Given the description of an element on the screen output the (x, y) to click on. 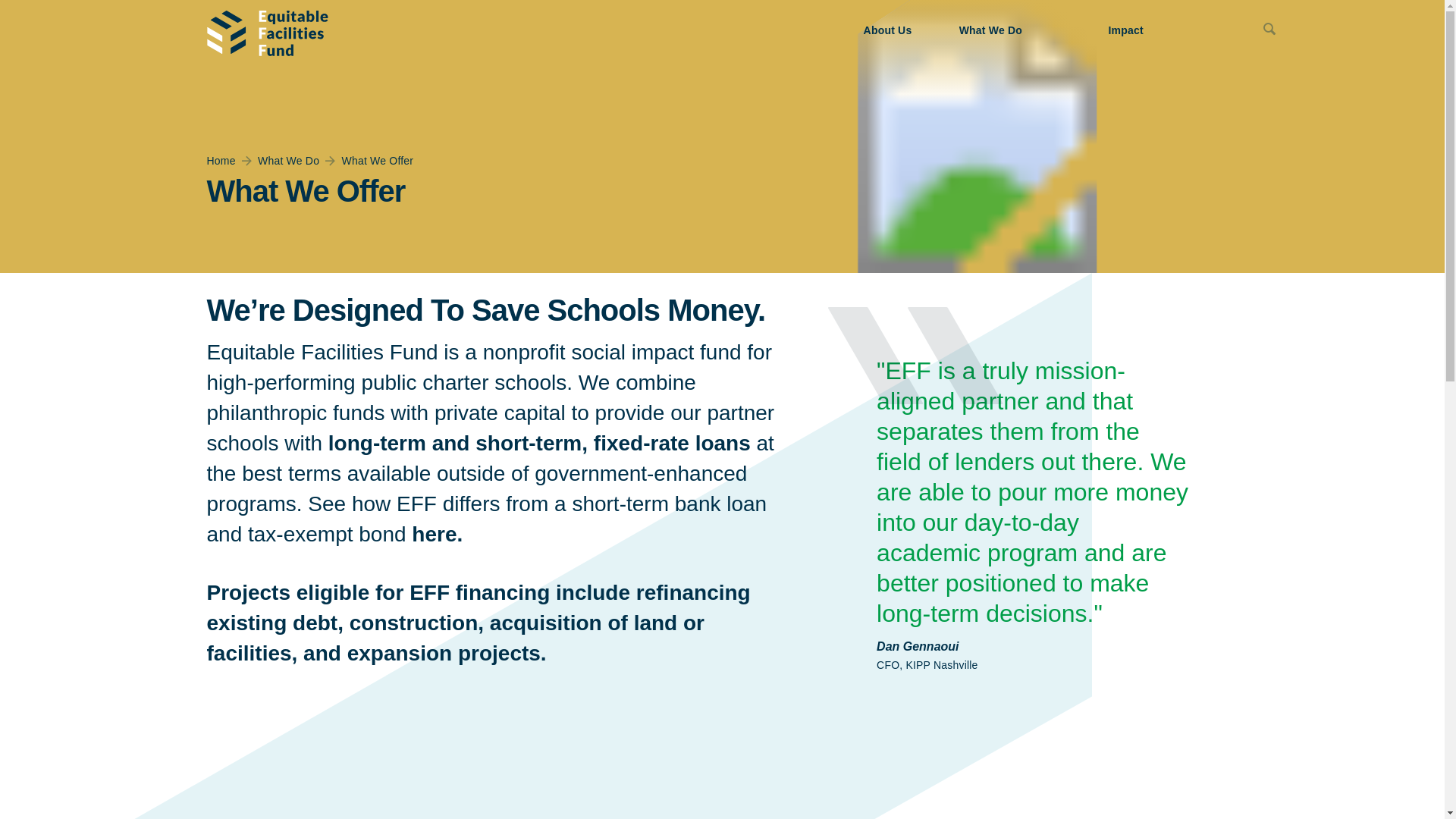
Home (220, 160)
Impact (1170, 29)
About Us (892, 29)
What We Do (1015, 29)
here. (437, 534)
What We Do (287, 160)
